Given the description of an element on the screen output the (x, y) to click on. 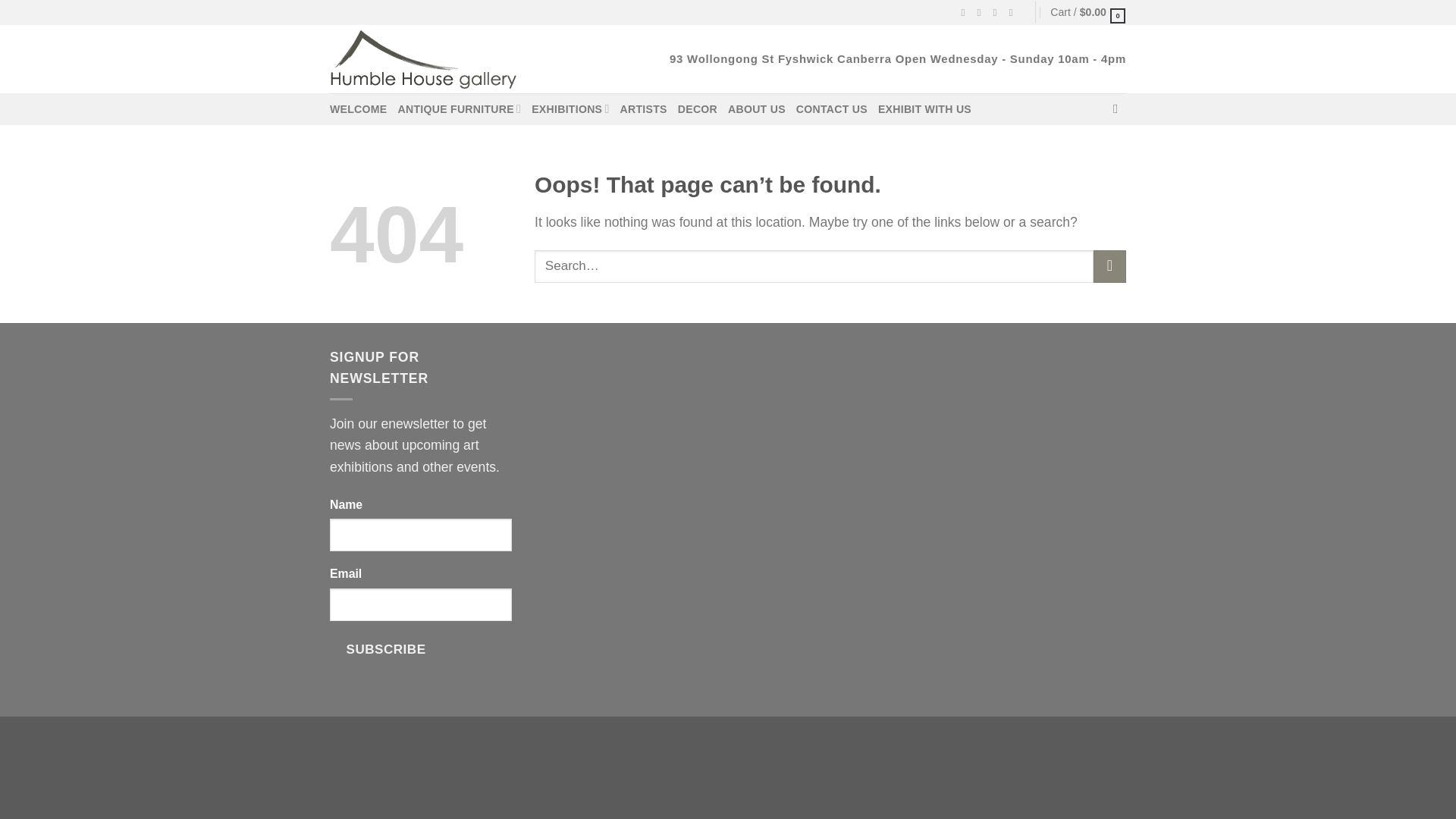
DECOR (697, 109)
ANTIQUE FURNITURE (459, 109)
SUBSCRIBE (386, 649)
ARTISTS (643, 109)
Cart (1087, 12)
WELCOME (358, 109)
CONTACT US (831, 109)
EXHIBIT WITH US (924, 109)
ABOUT US (757, 109)
